Given the description of an element on the screen output the (x, y) to click on. 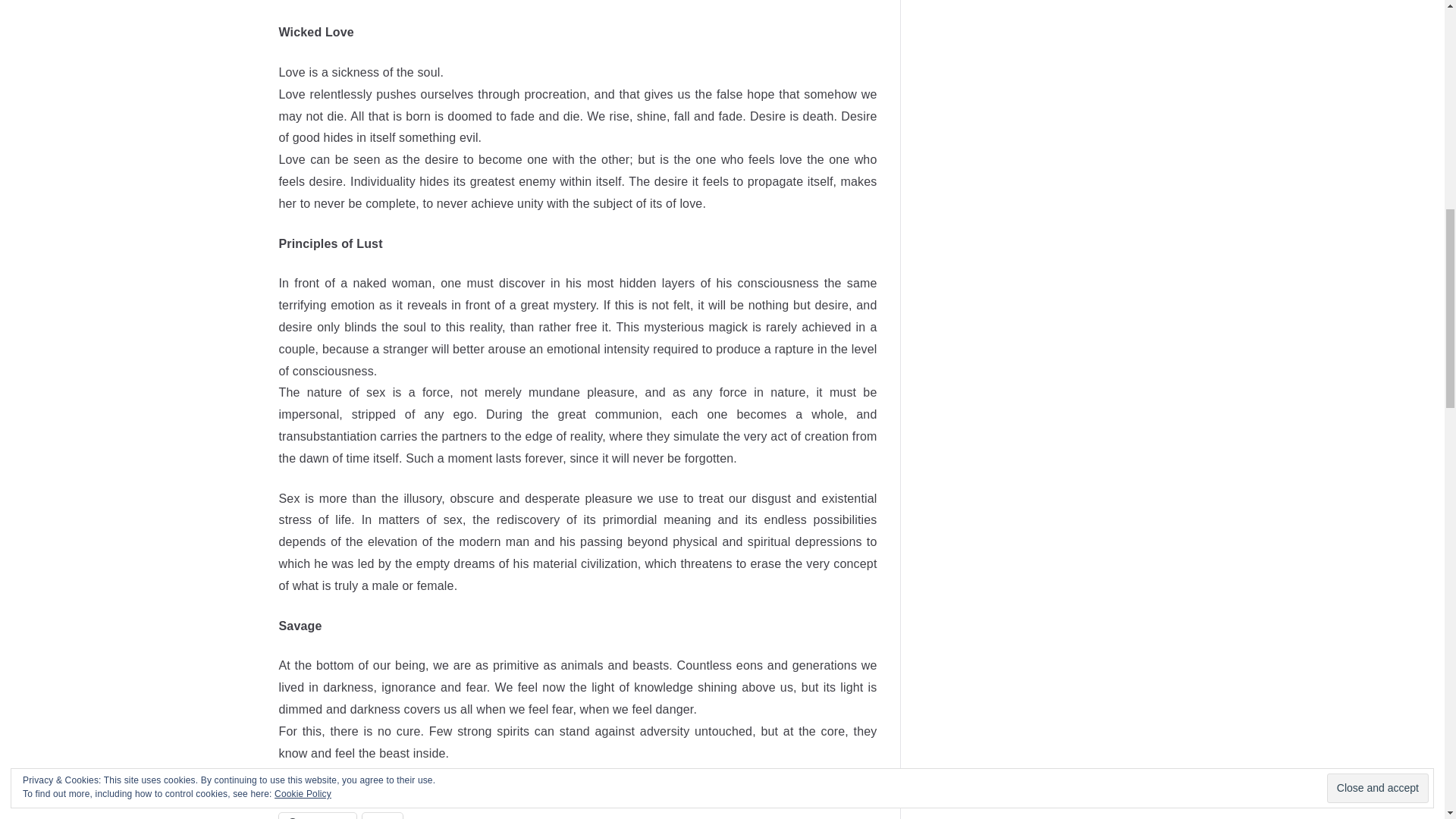
Facebook (317, 816)
Click to share on Facebook (317, 816)
X (382, 816)
Click to share on X (382, 816)
